Given the description of an element on the screen output the (x, y) to click on. 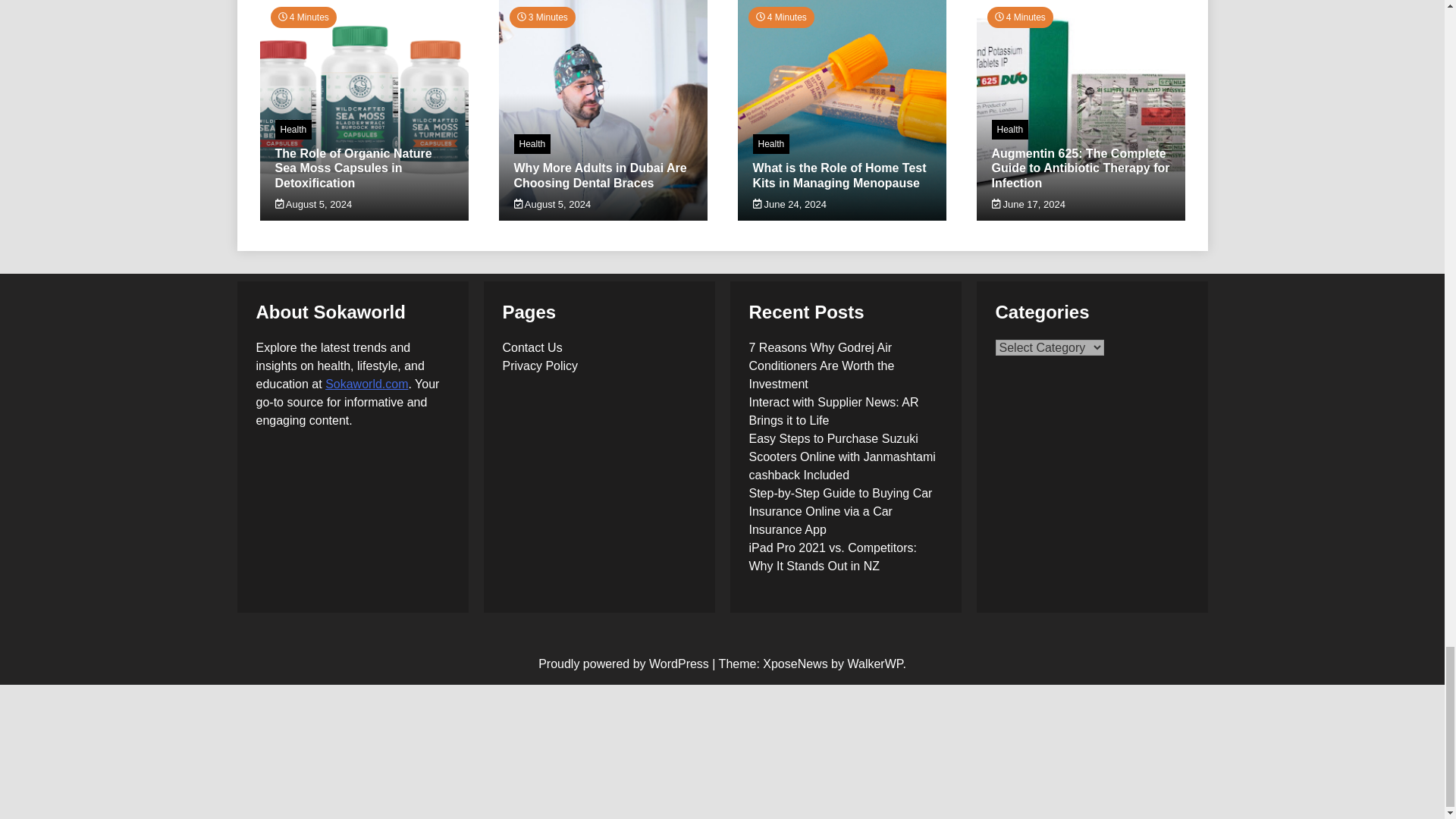
Estimated Reading Time of Article (302, 16)
Estimated Reading Time of Article (542, 16)
